Given the description of an element on the screen output the (x, y) to click on. 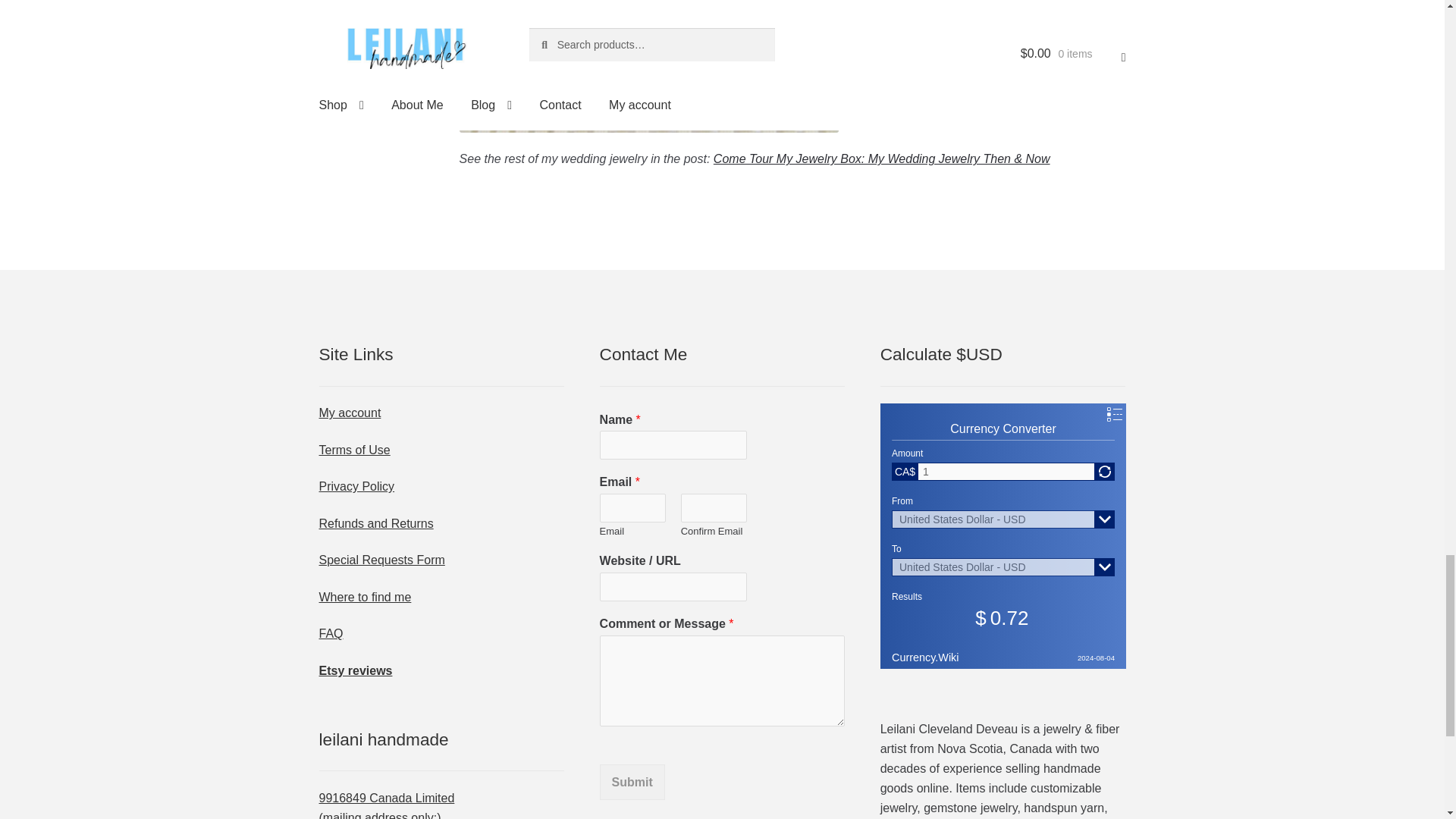
DSCF8297 (649, 66)
